Given the description of an element on the screen output the (x, y) to click on. 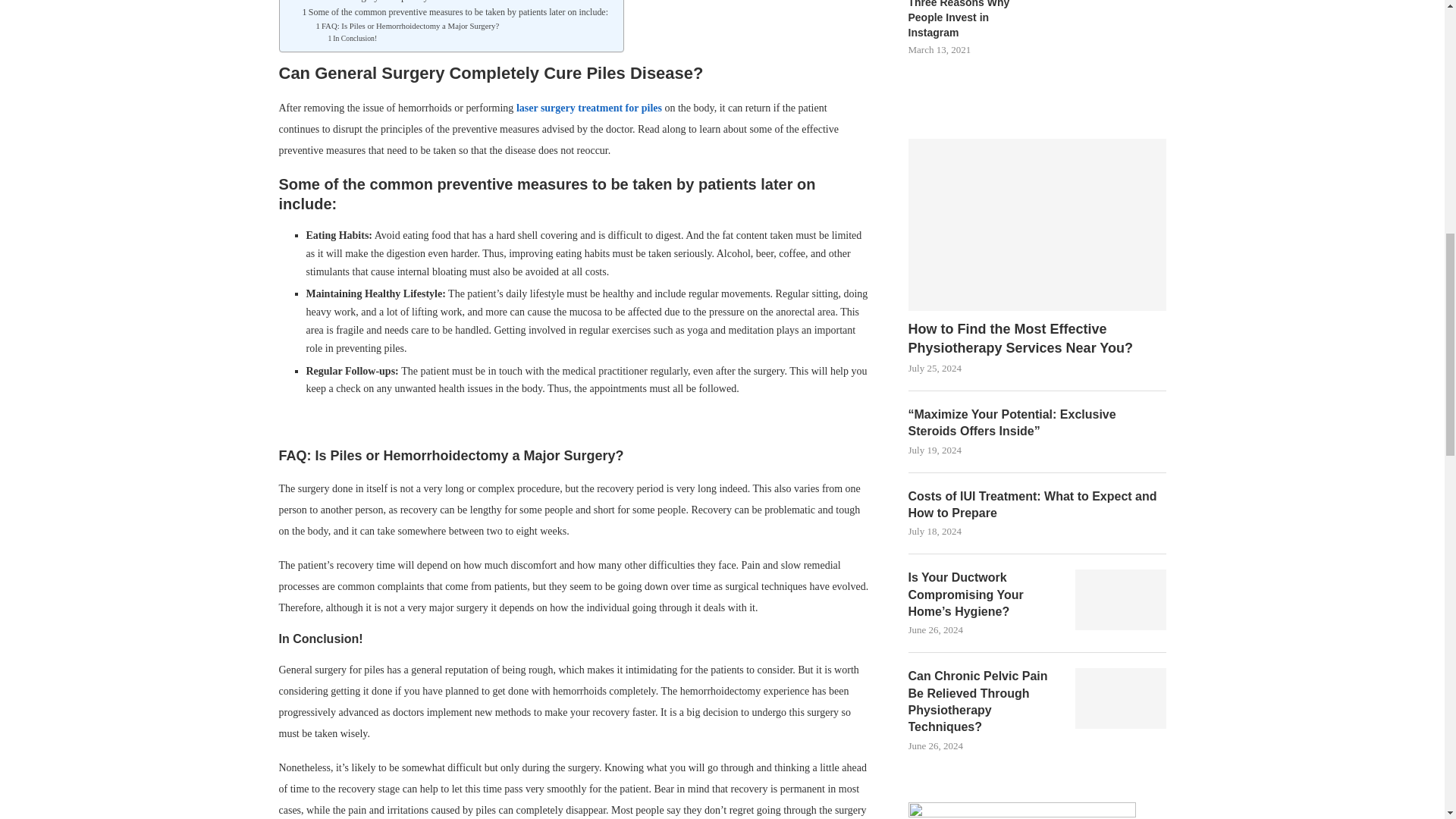
In Conclusion! (353, 38)
FAQ: Is Piles or Hemorrhoidectomy a Major Surgery? (407, 25)
Can General Surgery Completely Cure Piles Disease? (398, 2)
In Conclusion! (353, 38)
FAQ: Is Piles or Hemorrhoidectomy a Major Surgery? (407, 25)
laser surgery treatment for piles (587, 107)
Can General Surgery Completely Cure Piles Disease? (398, 2)
